Given the description of an element on the screen output the (x, y) to click on. 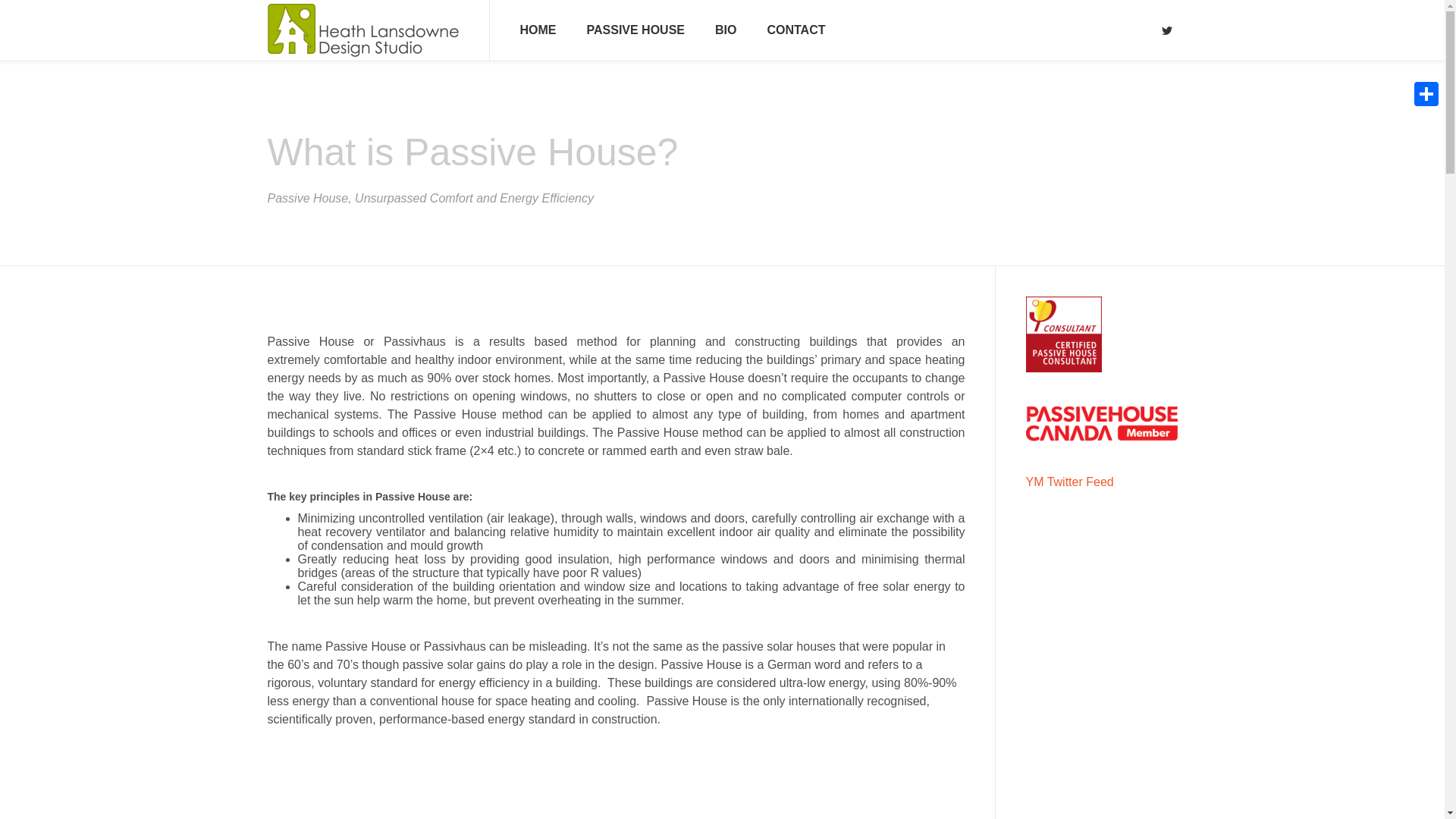
YM Twitter Feed (1069, 481)
PASSIVE HOUSE (636, 30)
BIO (725, 30)
CONTACT (795, 30)
Passive House Explained in 90 Seconds   YouTube (614, 789)
HOME (538, 30)
